Given the description of an element on the screen output the (x, y) to click on. 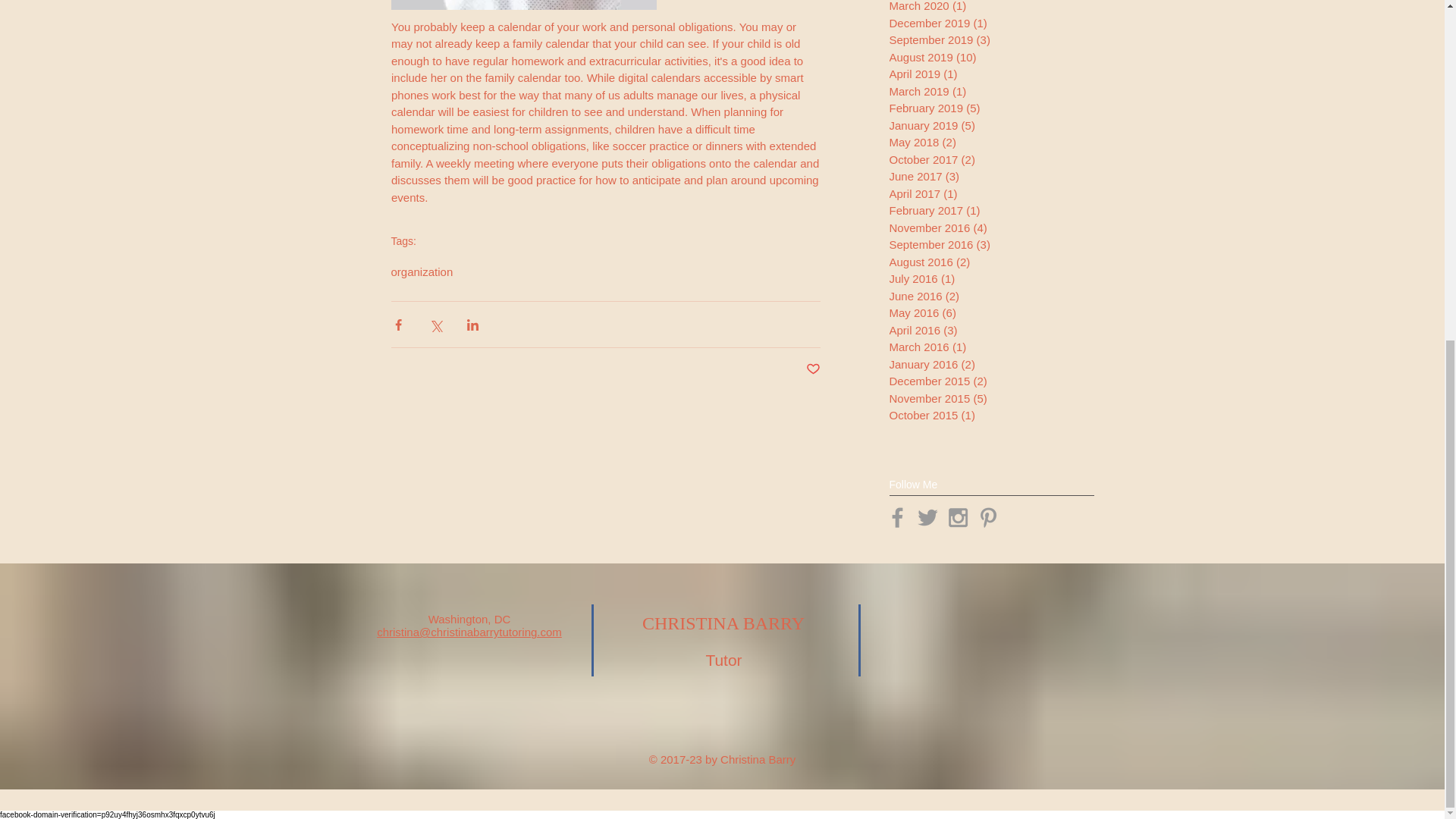
organization (421, 271)
Post not marked as liked (812, 369)
